Given the description of an element on the screen output the (x, y) to click on. 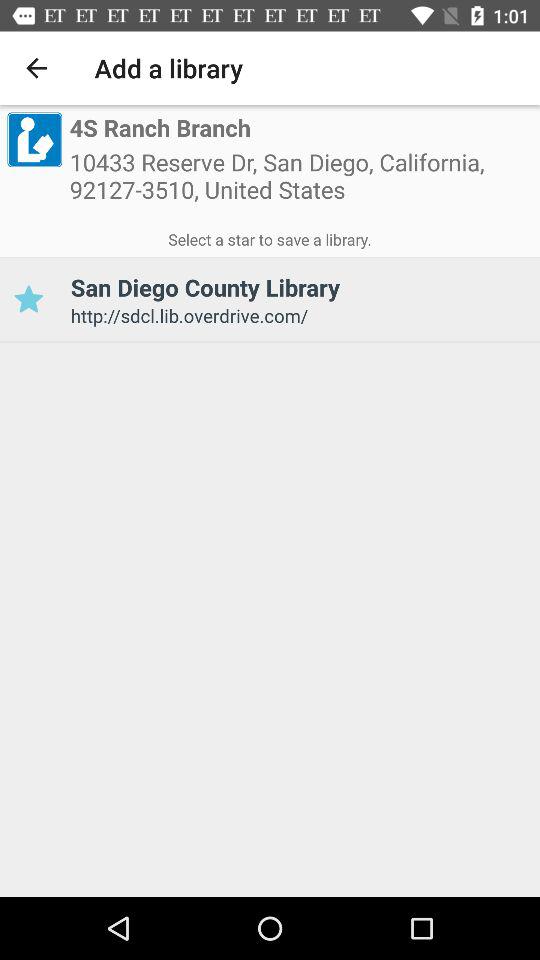
turn on item above the select a star (34, 139)
